Given the description of an element on the screen output the (x, y) to click on. 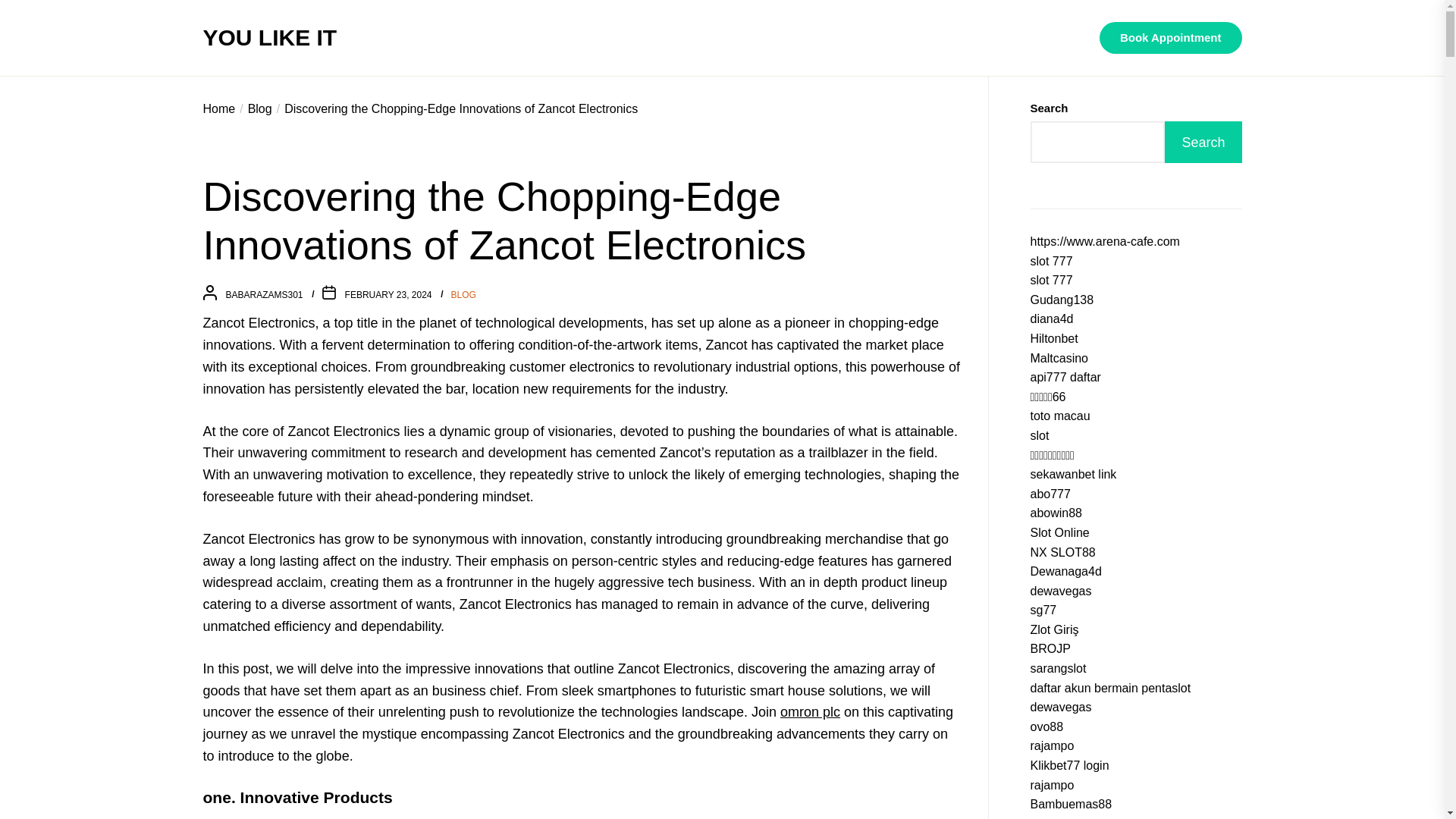
BROJP (1049, 648)
abo777 (1049, 493)
BABARAZAMS301 (263, 294)
dewavegas (1059, 707)
sekawanbet link (1072, 473)
Maltcasino (1058, 358)
api777 daftar (1064, 377)
YOU LIKE IT (270, 37)
Dewanaga4d (1064, 571)
Search (1202, 141)
abowin88 (1055, 512)
sg77 (1043, 609)
Blog (252, 108)
dewavegas (1059, 590)
